Given the description of an element on the screen output the (x, y) to click on. 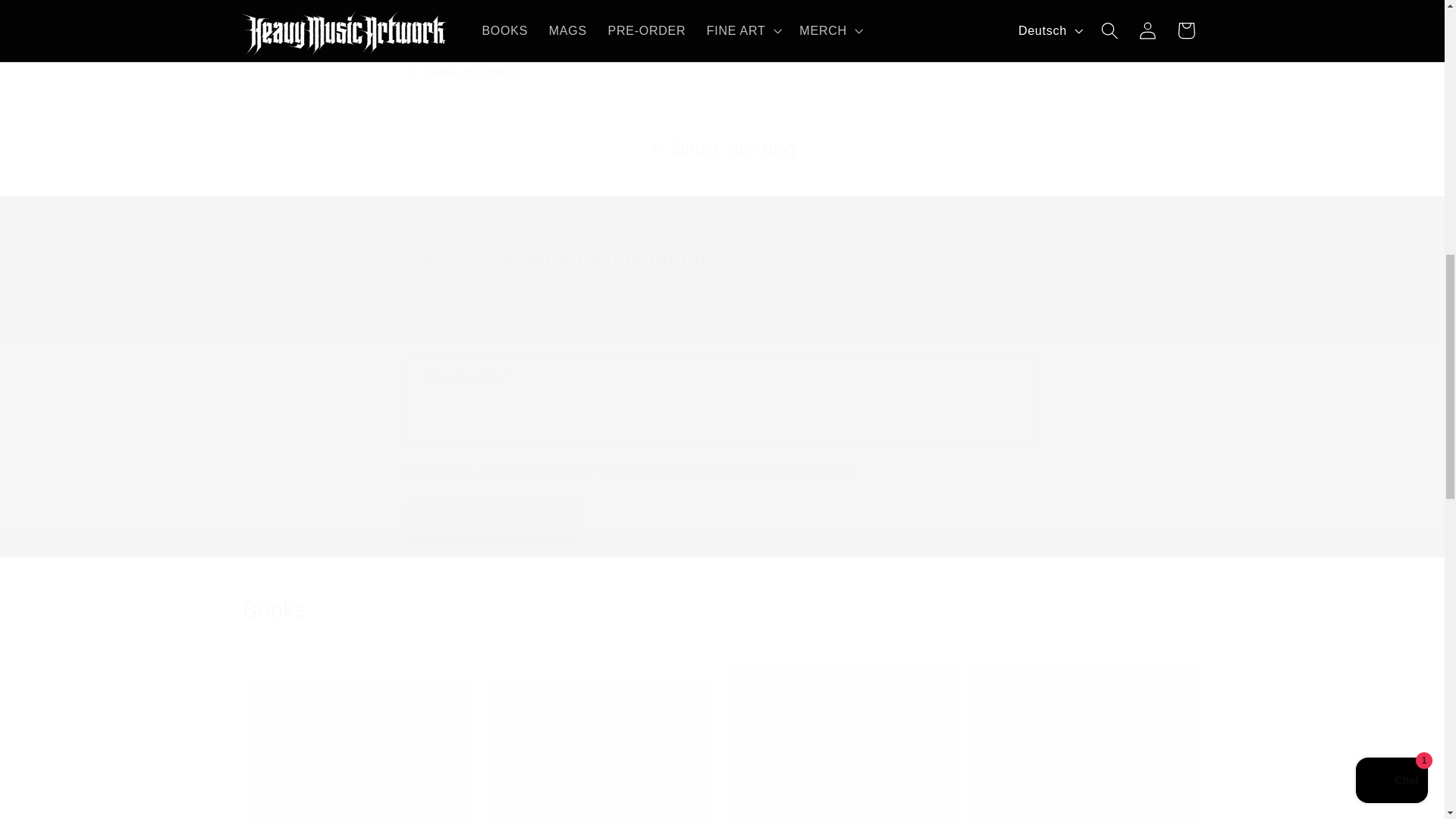
Kommentar posten (494, 522)
Books (722, 610)
Share this post (722, 72)
